Given the description of an element on the screen output the (x, y) to click on. 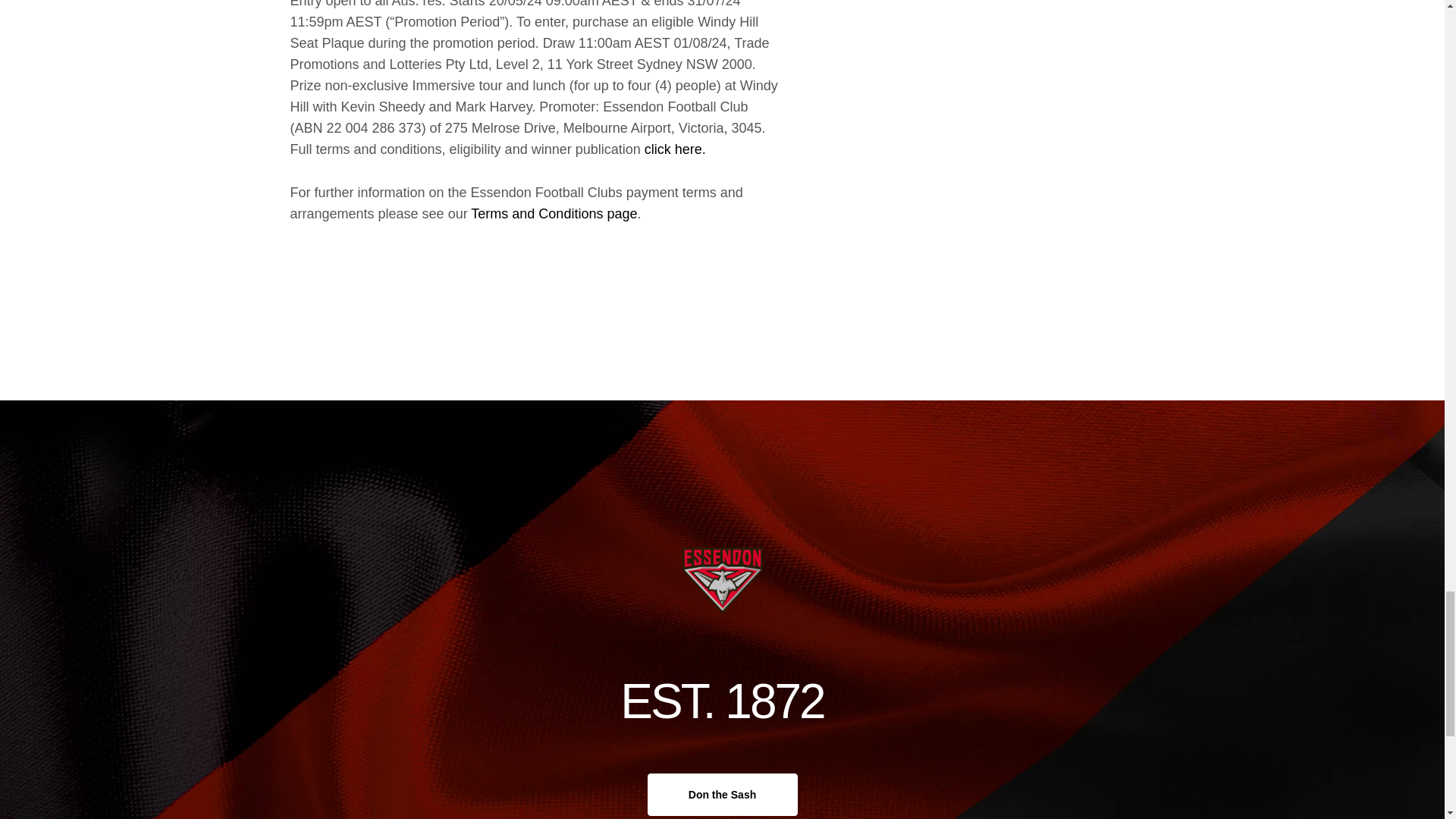
Terms and Conditions page (553, 213)
click here. (675, 149)
